Given the description of an element on the screen output the (x, y) to click on. 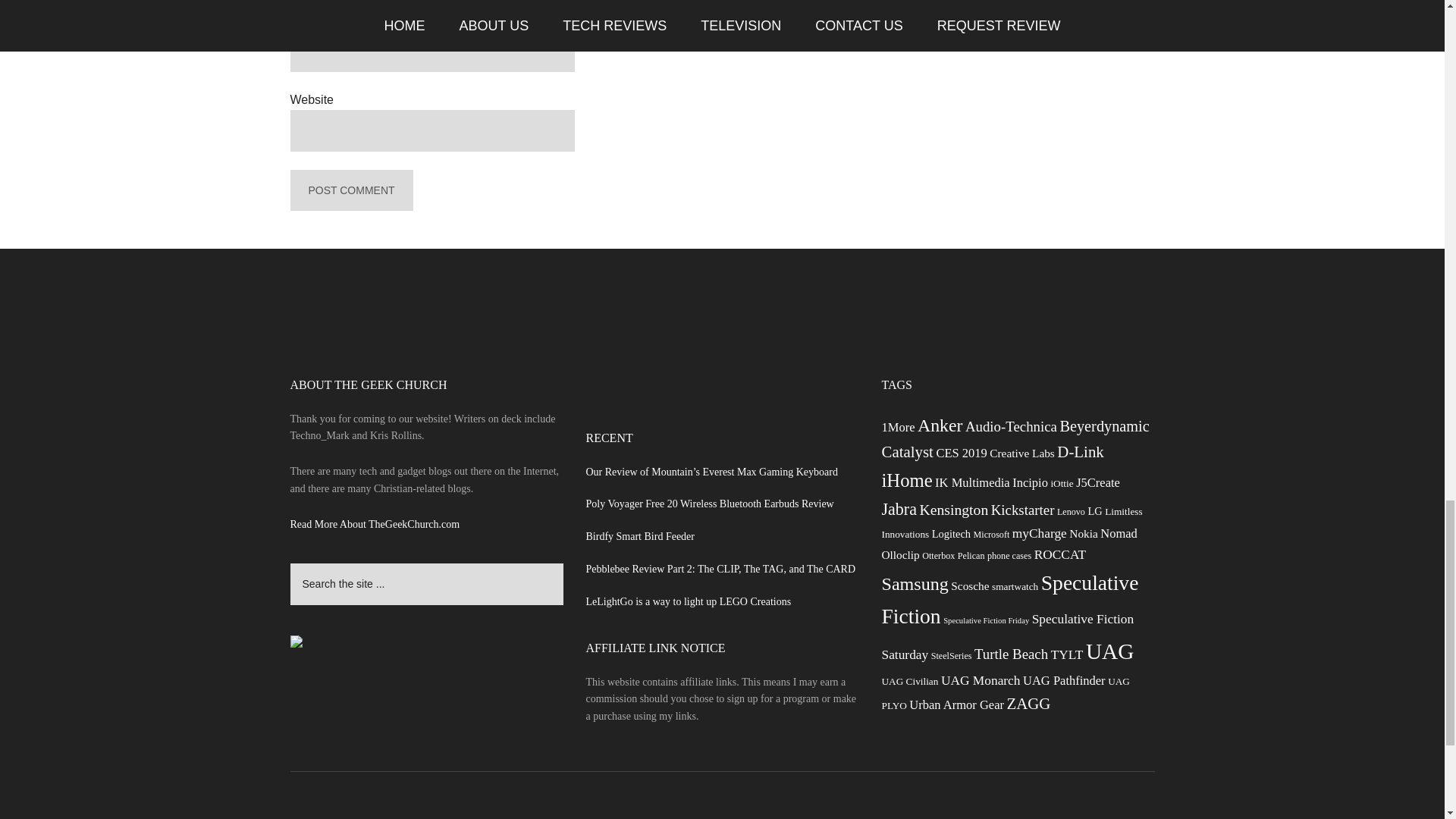
Advertisement (722, 403)
Advertisement (721, 336)
Post Comment (350, 190)
Advertisement (1017, 7)
Post Comment (350, 190)
